Given the description of an element on the screen output the (x, y) to click on. 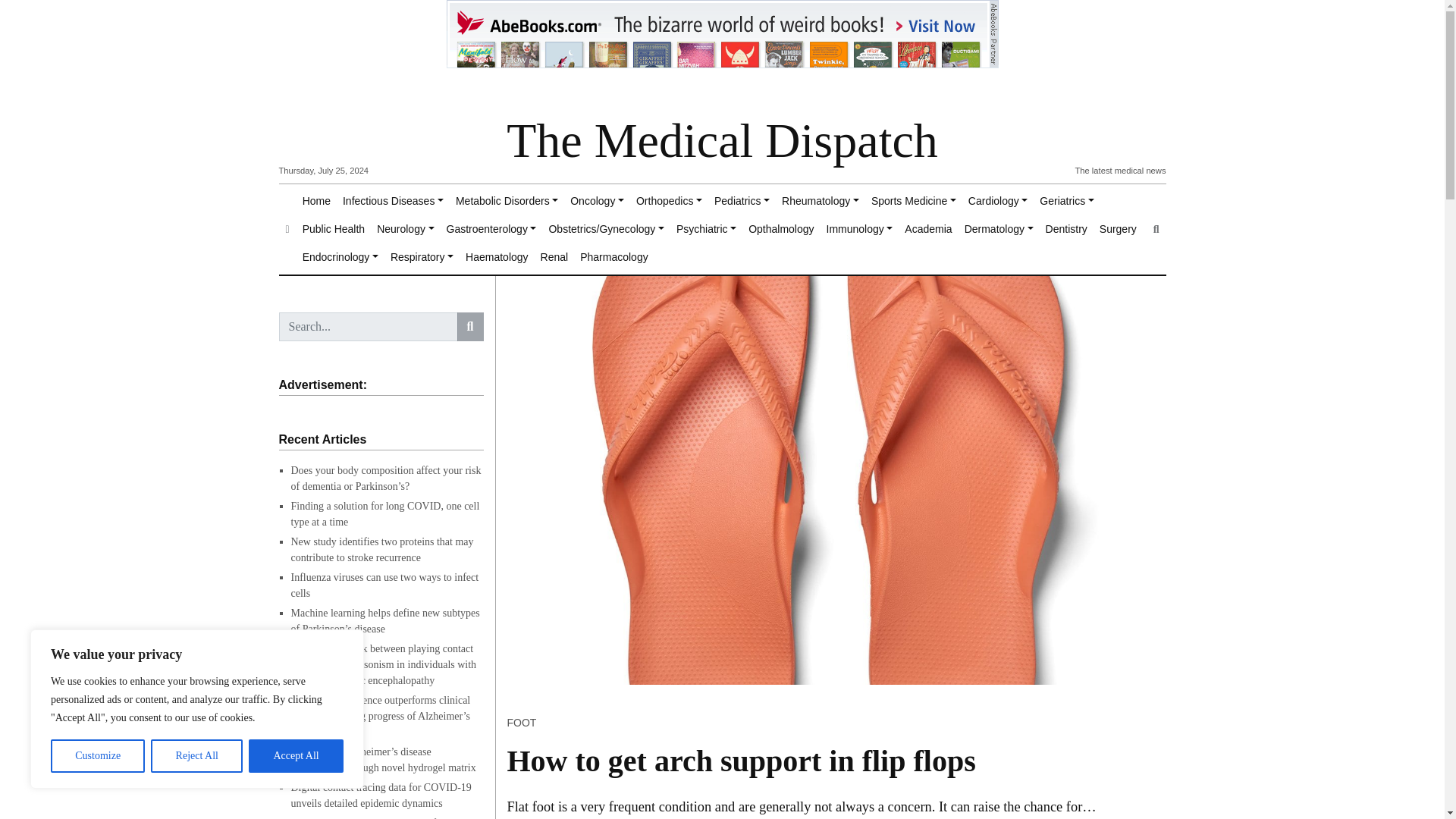
Infectious Diseases (392, 201)
Reject All (197, 756)
Orthopedics (668, 201)
Metabolic Disorders (506, 201)
The Medical Dispatch (721, 140)
Pediatrics (741, 201)
Oncology (597, 201)
Oncology (597, 201)
Home (316, 201)
Accept All (295, 756)
Metabolic Disorders (506, 201)
Customize (97, 756)
Home (316, 201)
Infectious Diseases (392, 201)
